Given the description of an element on the screen output the (x, y) to click on. 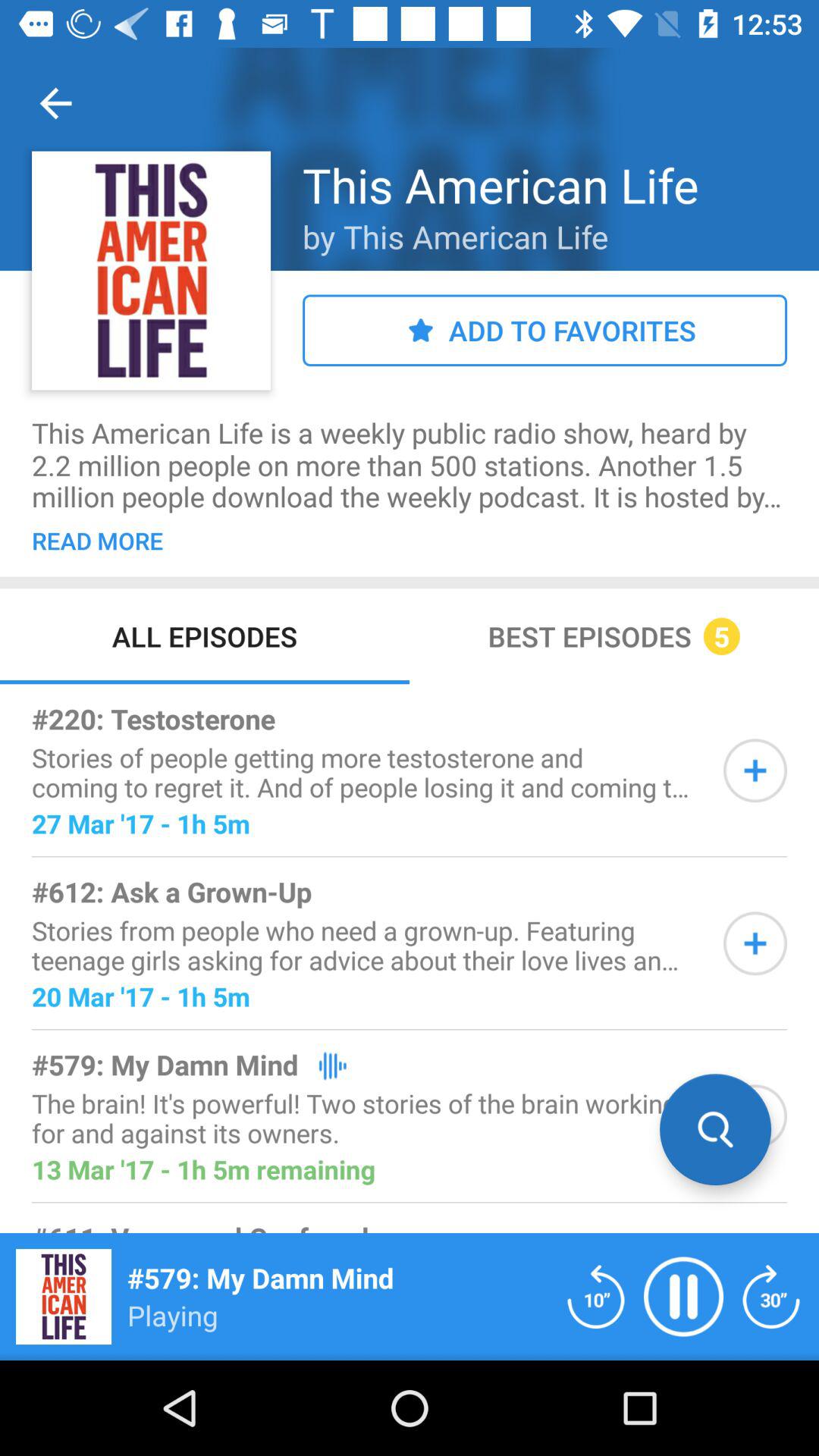
play backward 10 secound (595, 1296)
